Given the description of an element on the screen output the (x, y) to click on. 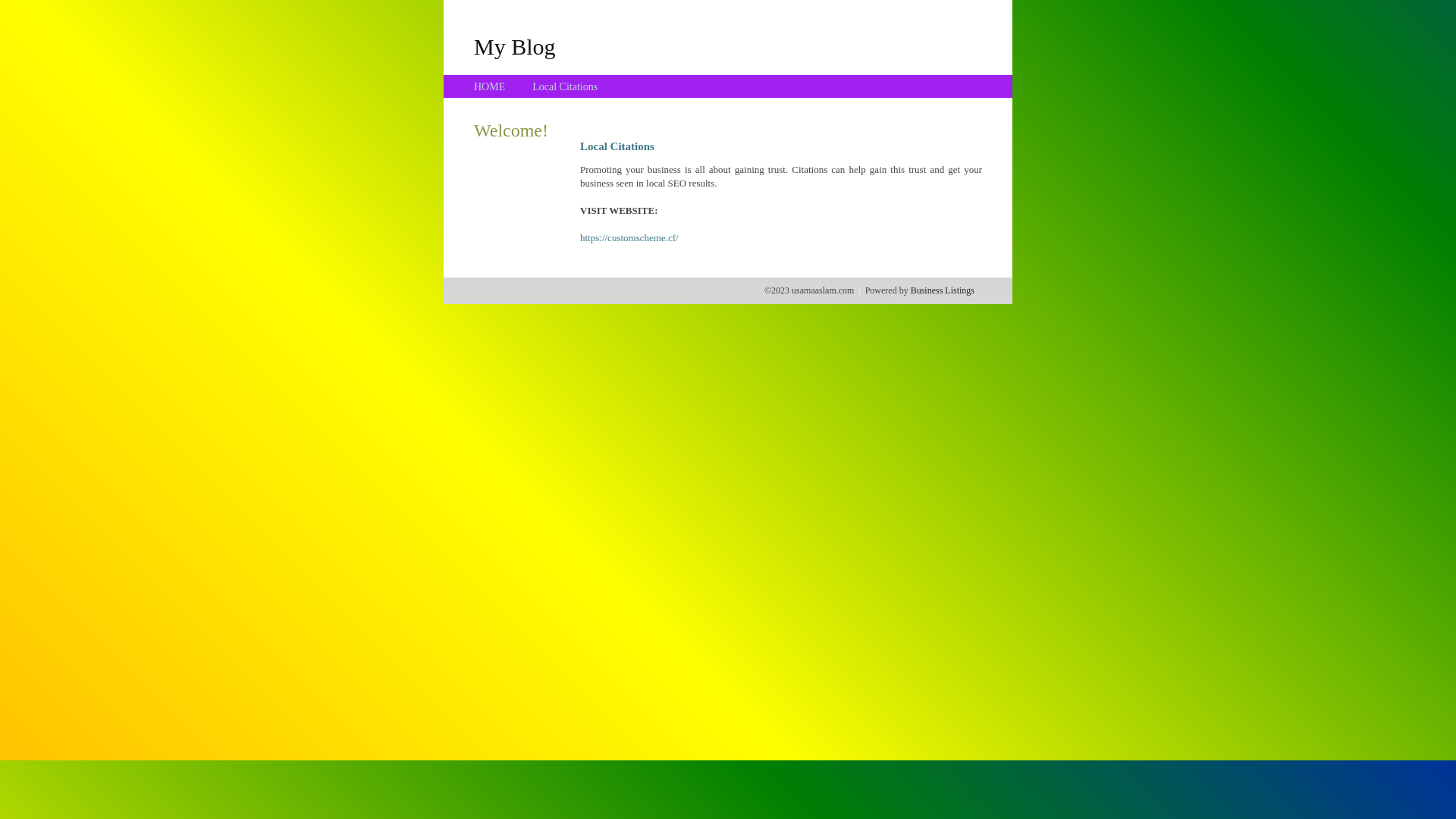
Local Citations Element type: text (564, 86)
My Blog Element type: text (514, 46)
Business Listings Element type: text (942, 290)
HOME Element type: text (489, 86)
https://customscheme.cf/ Element type: text (629, 237)
